Given the description of an element on the screen output the (x, y) to click on. 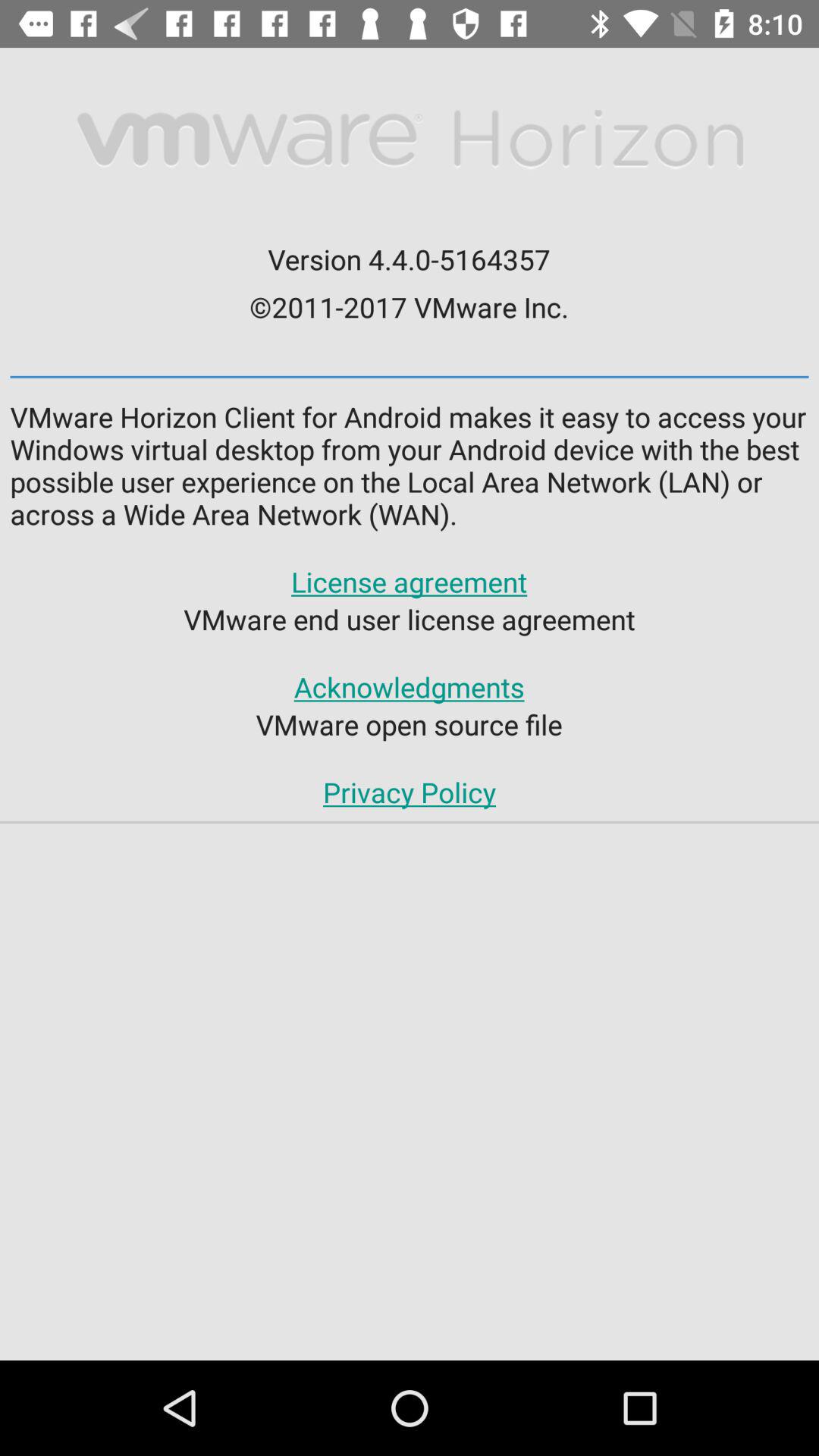
open the app below vmware end user (409, 686)
